Given the description of an element on the screen output the (x, y) to click on. 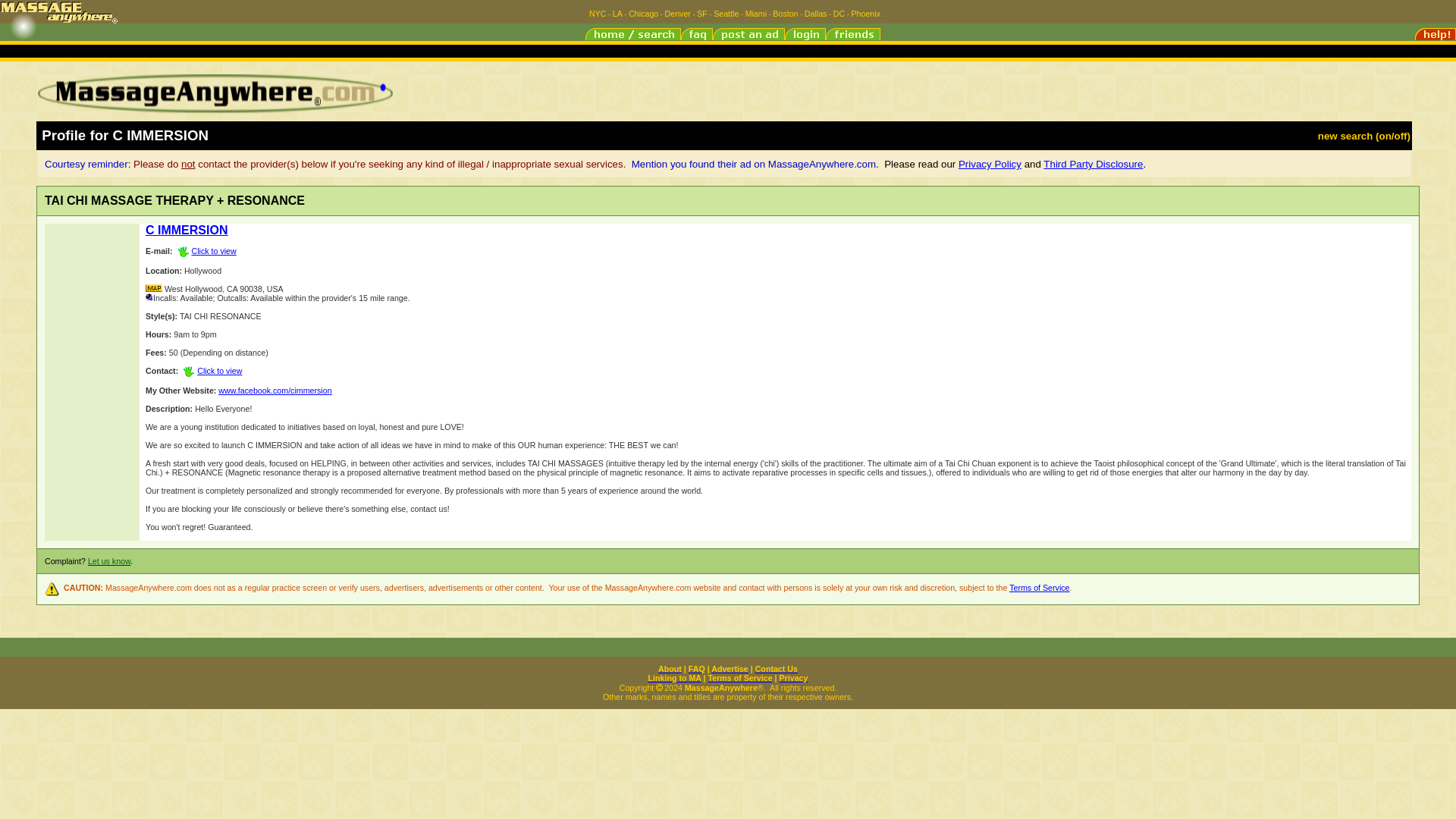
Terms of Service (740, 677)
Miami (756, 13)
Third Party Disclosure (1092, 163)
Click to view (204, 250)
Privacy Policy (990, 163)
LA (617, 13)
Terms of Service (1038, 587)
Denver (677, 13)
Phoenix (865, 13)
Click to view (210, 370)
